Given the description of an element on the screen output the (x, y) to click on. 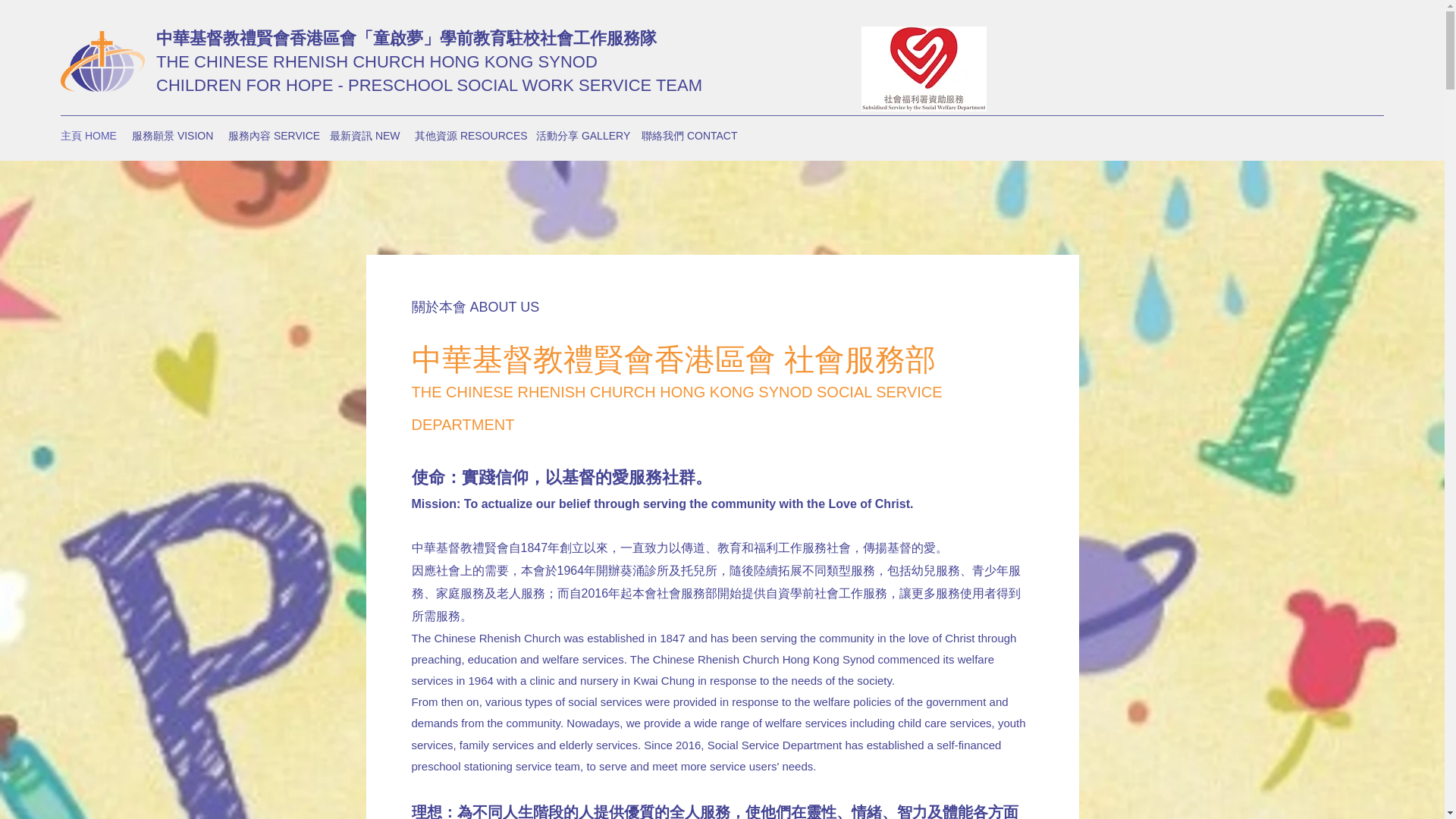
SWD Logo.JPG (924, 68)
